Given the description of an element on the screen output the (x, y) to click on. 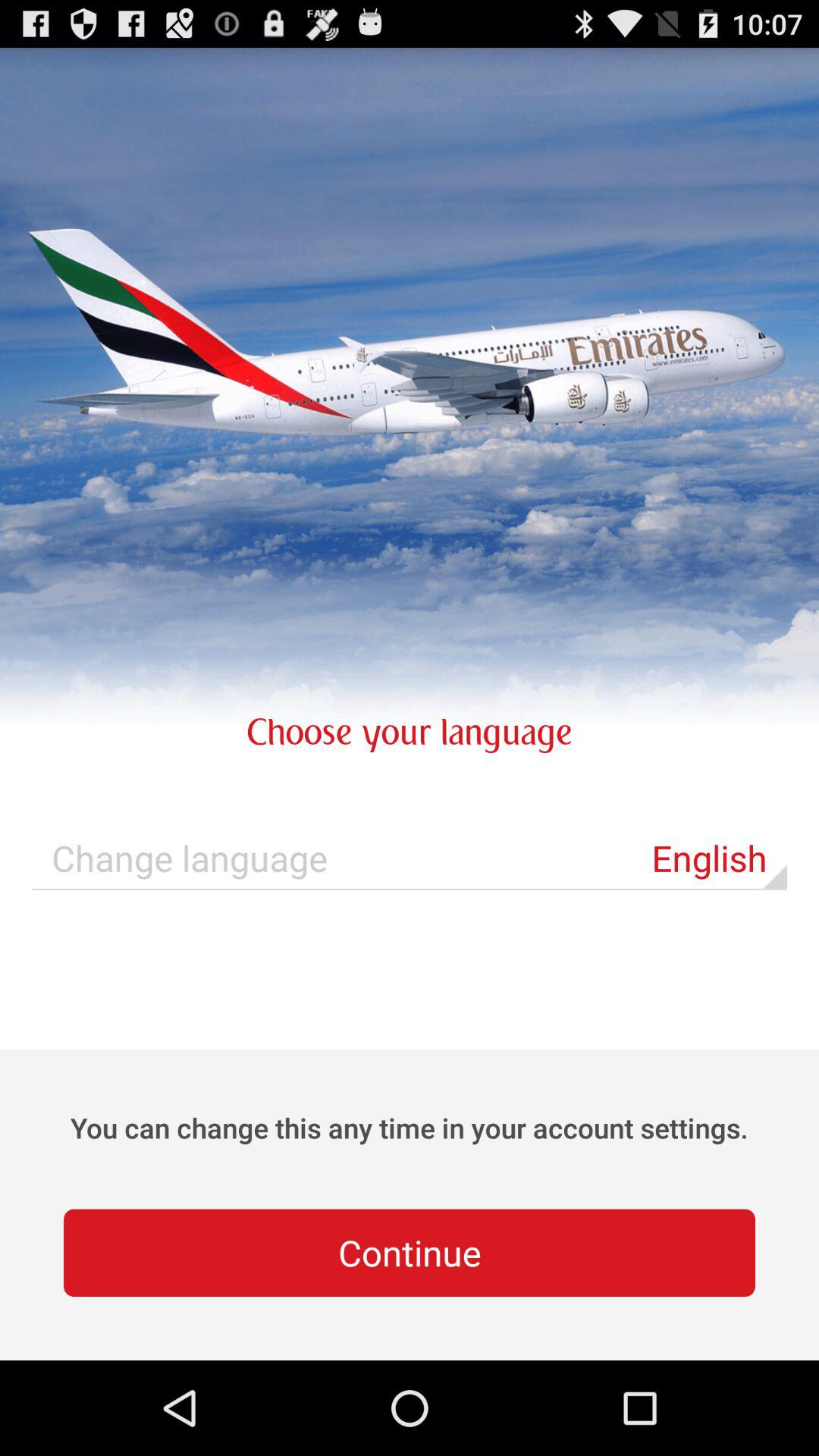
press the continue button (409, 1252)
